Given the description of an element on the screen output the (x, y) to click on. 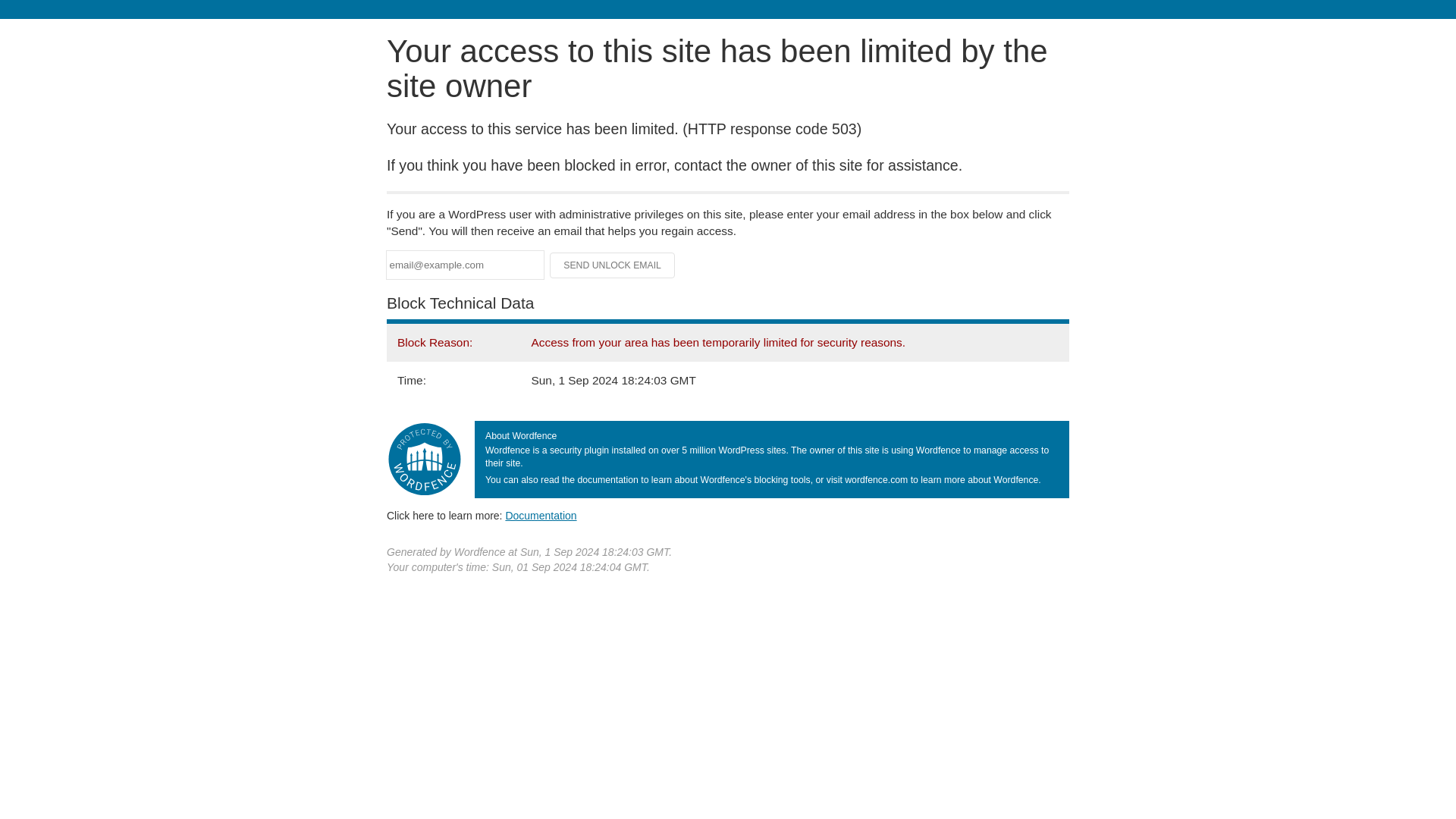
Documentation (540, 515)
Send Unlock Email (612, 265)
Send Unlock Email (612, 265)
